Given the description of an element on the screen output the (x, y) to click on. 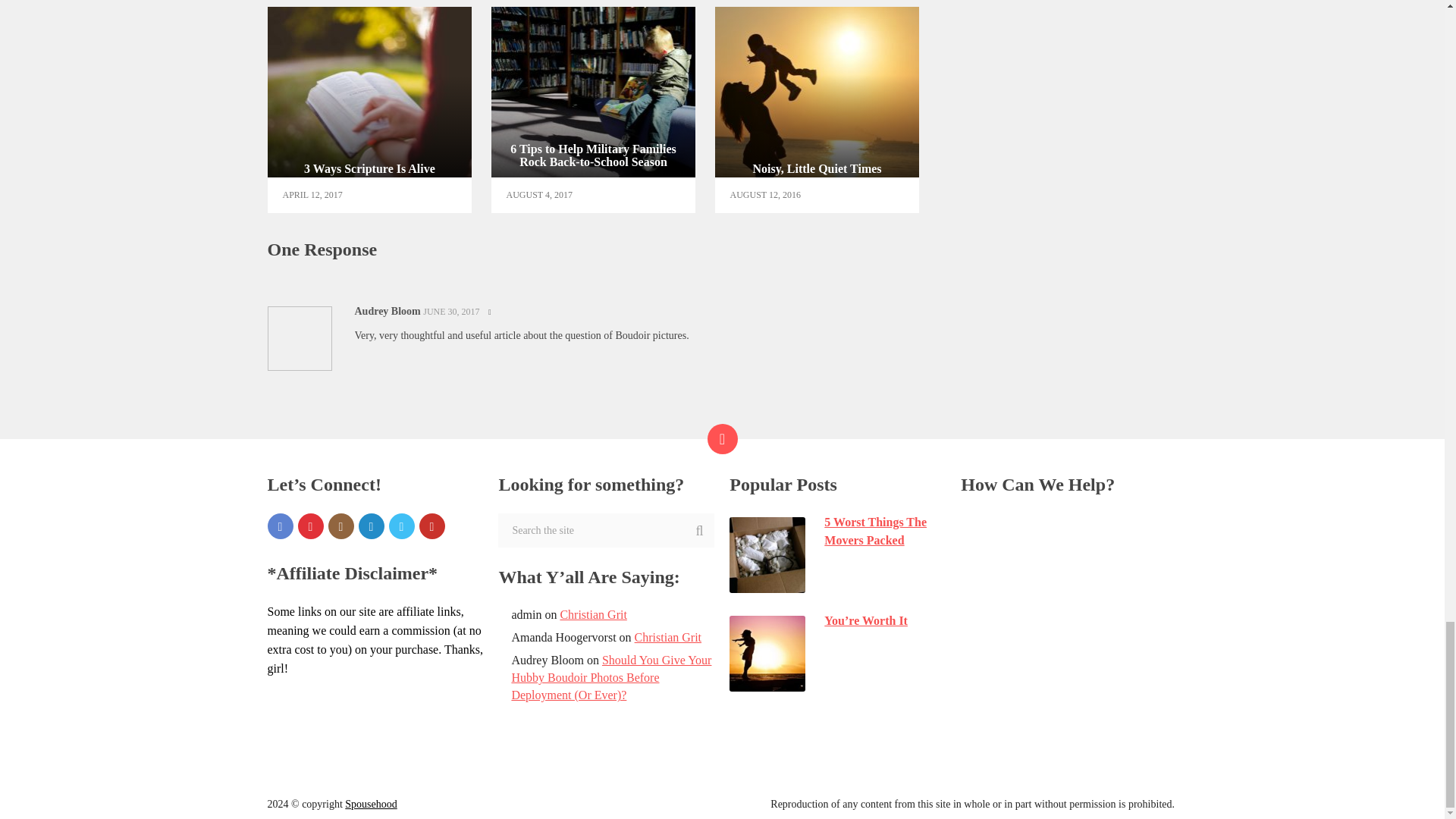
GET TO KNOW US (1024, 521)
5 Worst Things The Movers Packed (836, 531)
Pinterest (310, 525)
3 Ways Scripture Is Alive (368, 109)
Facebook (368, 109)
Christian Grit (279, 525)
6 Tips to Help Military Families Rock Back-to-School Season (667, 636)
Instagram (593, 109)
Noisy, Little Quiet Times (817, 109)
Christian Grit (340, 525)
